Given the description of an element on the screen output the (x, y) to click on. 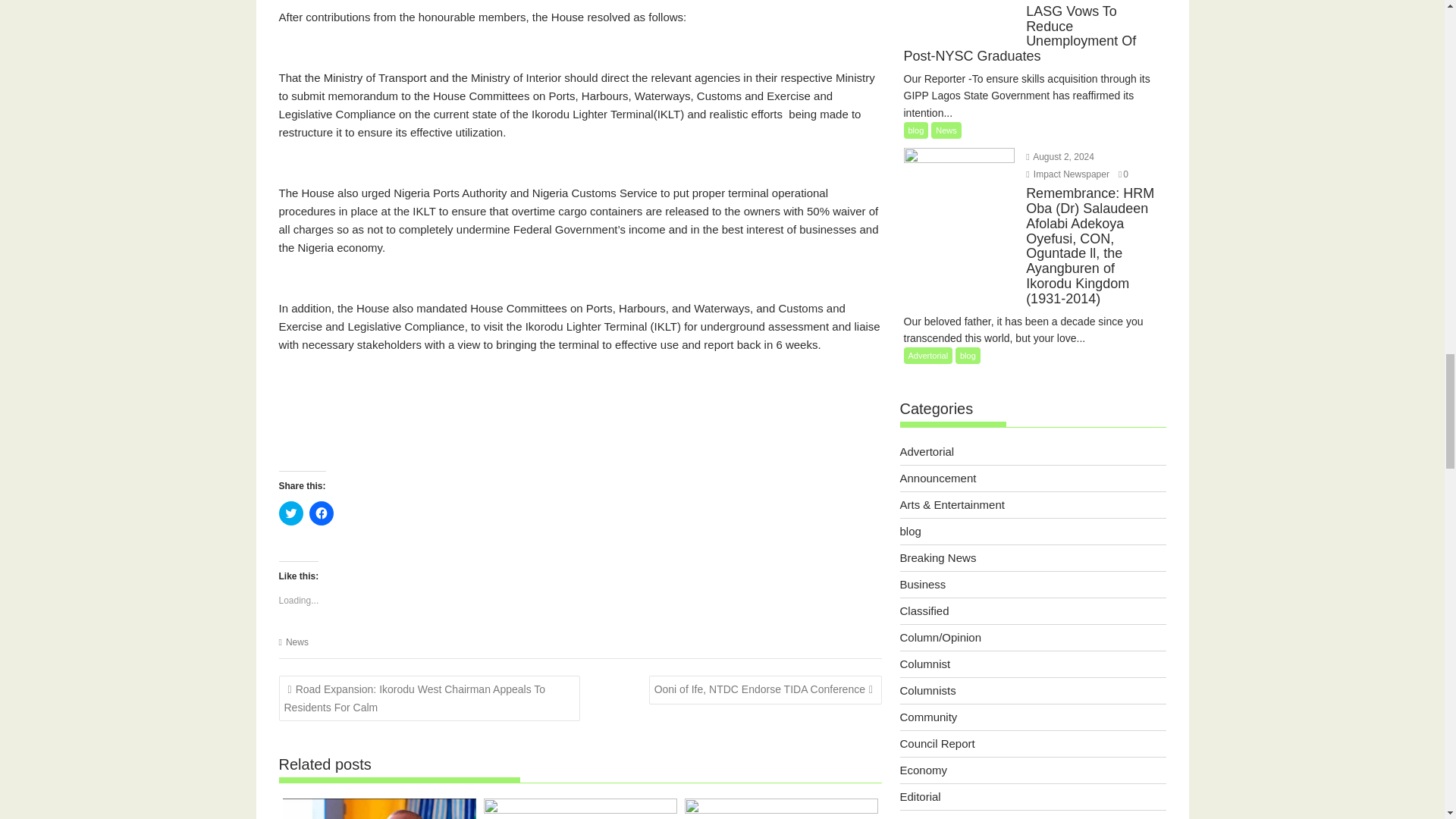
Click to share on Twitter (290, 513)
Click to share on Facebook (320, 513)
News (296, 642)
Impact Newspaper (1067, 173)
Ooni of Ife, NTDC Endorse TIDA Conference (765, 689)
